Given the description of an element on the screen output the (x, y) to click on. 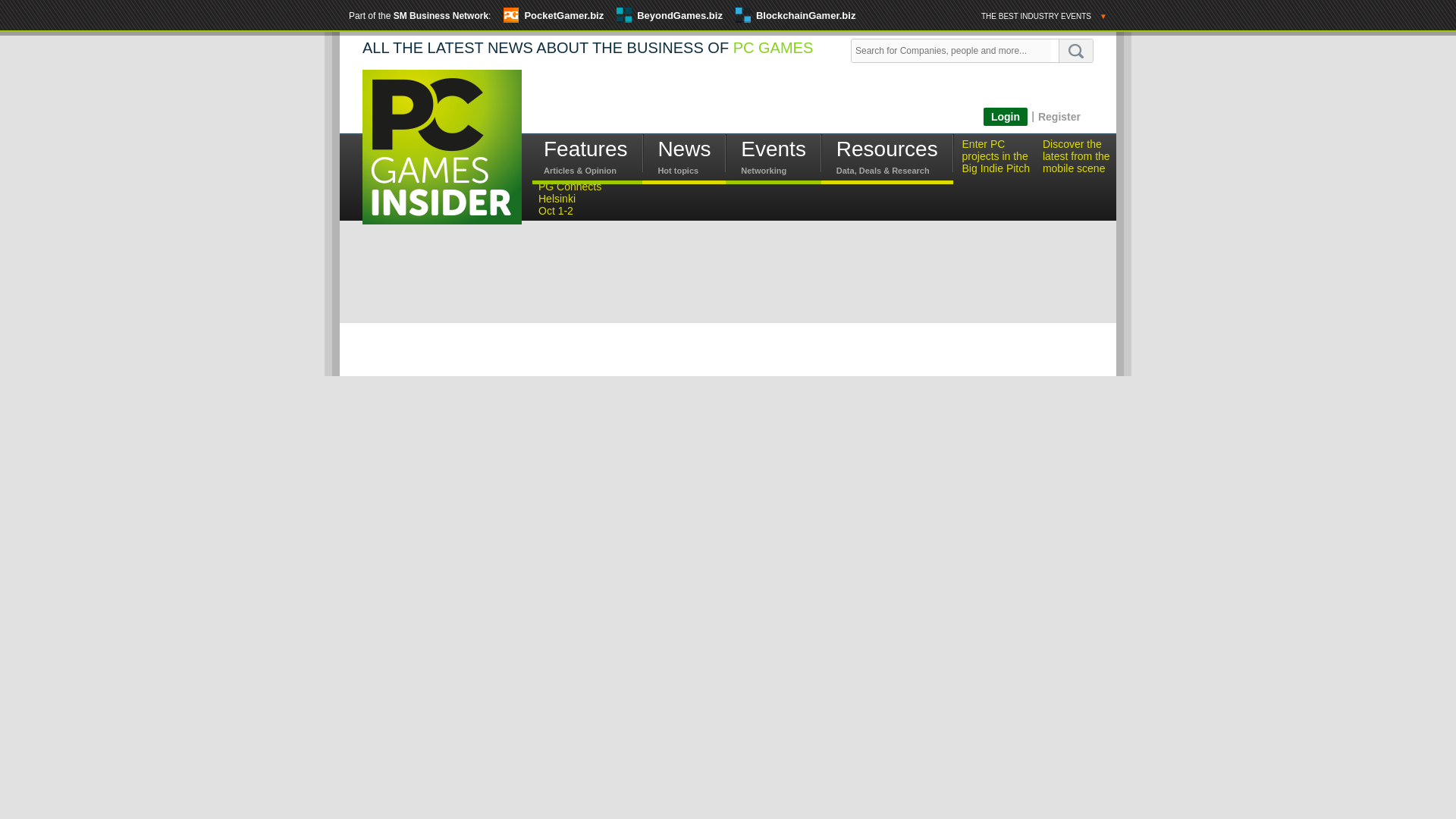
PC Games Insider (441, 146)
PC Games Insider (441, 159)
Register (1059, 116)
Login (1005, 116)
